Given the description of an element on the screen output the (x, y) to click on. 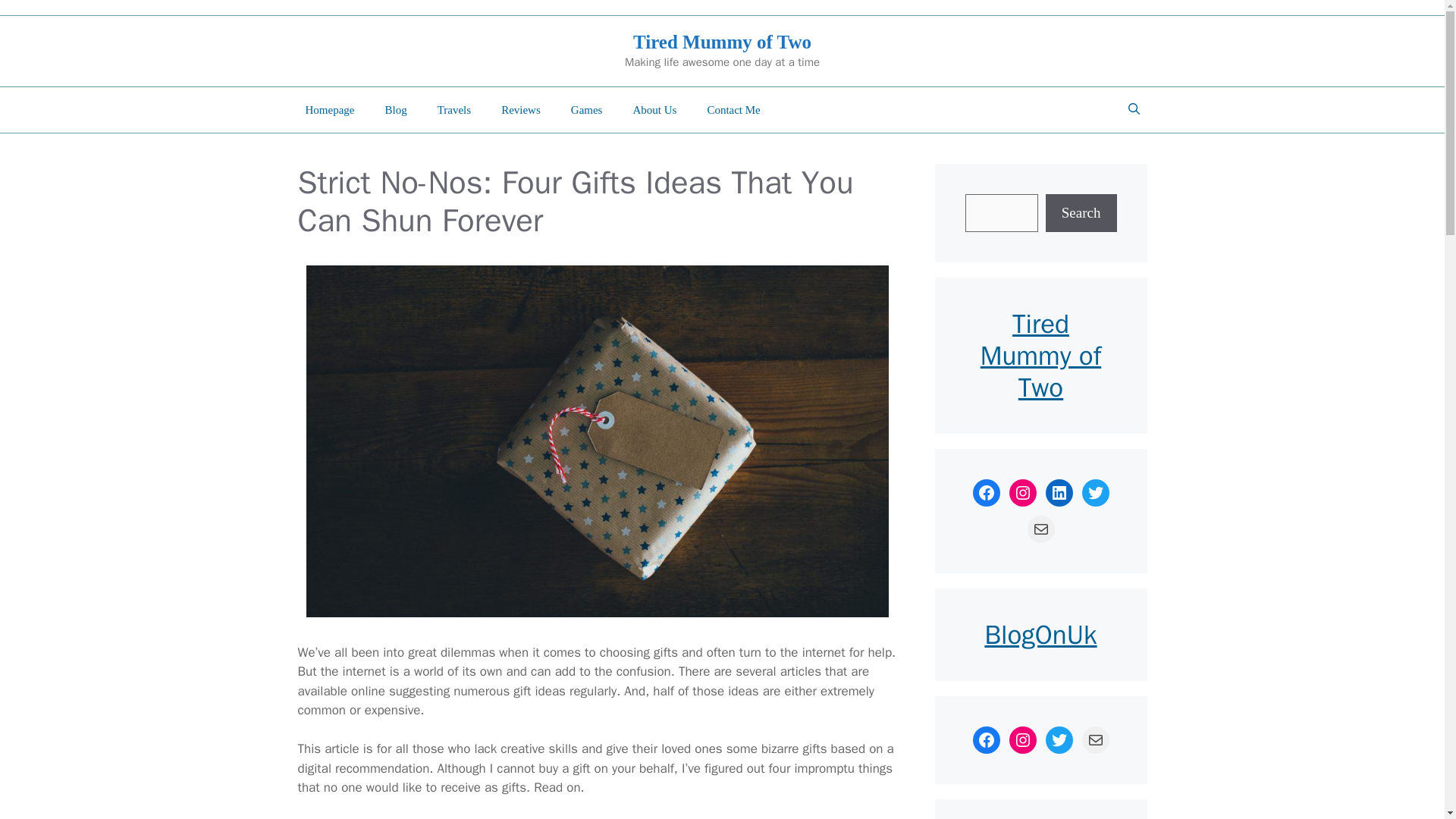
Reviews (521, 108)
Blog (395, 108)
Instagram (1022, 492)
Search (1080, 213)
Mail (1094, 739)
Tired Mummy of Two (721, 41)
Travels (454, 108)
Instagram (1022, 739)
BlogOnUk (1040, 634)
About Us (654, 108)
Twitter (1094, 492)
Twitter (1058, 739)
Contact Me (732, 108)
Games (586, 108)
Facebook (985, 739)
